Given the description of an element on the screen output the (x, y) to click on. 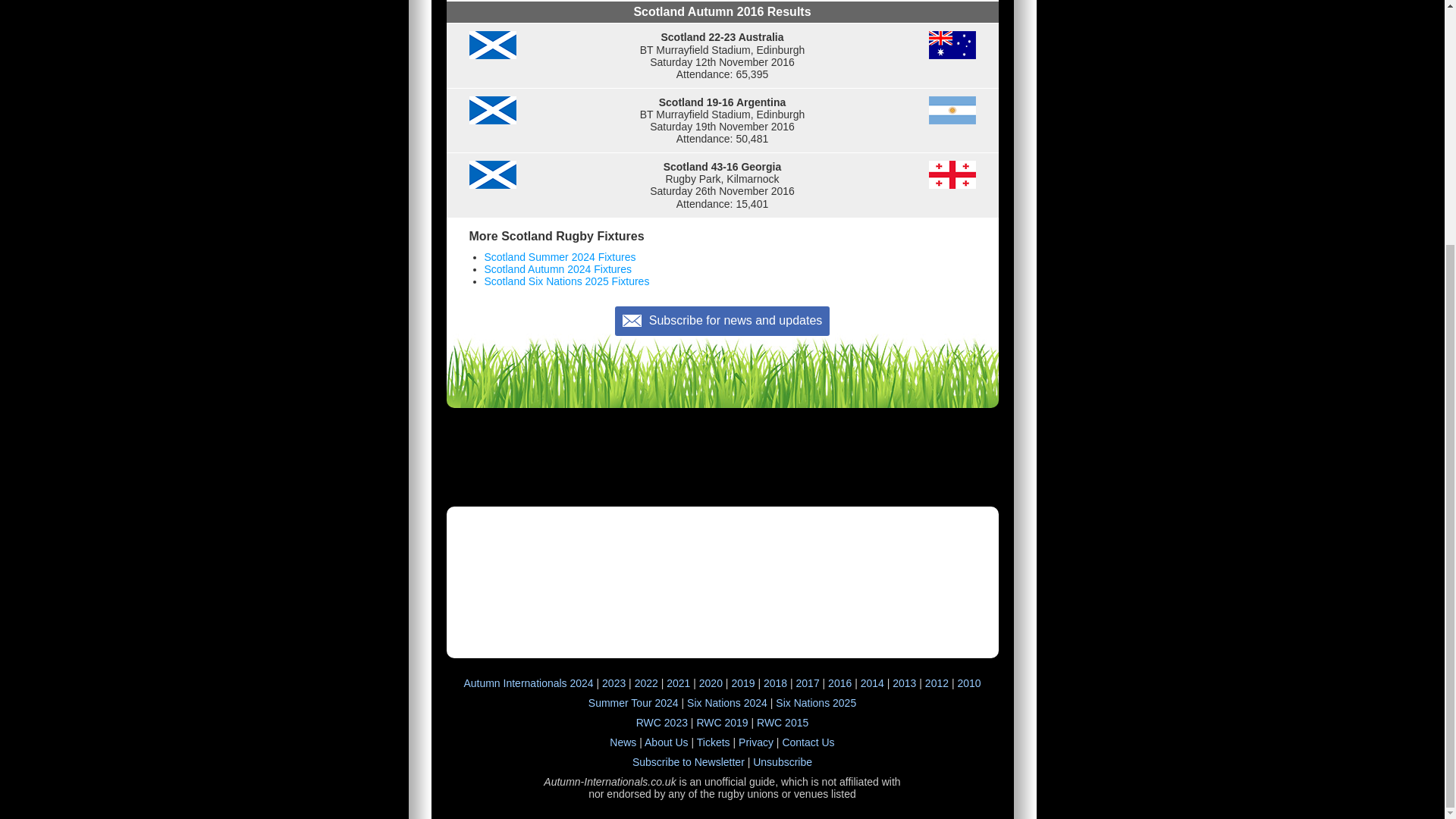
Scotland Autumn 2024 Fixtures (557, 268)
Scotland 43-16 Georgia (721, 185)
Summer Tour 2024 (633, 702)
2021 (678, 683)
About Us (666, 742)
Rugby World Cup 2015 (782, 722)
Summer Tour 2024 (633, 702)
2022 (646, 683)
2019 (742, 683)
2016 (839, 683)
